Given the description of an element on the screen output the (x, y) to click on. 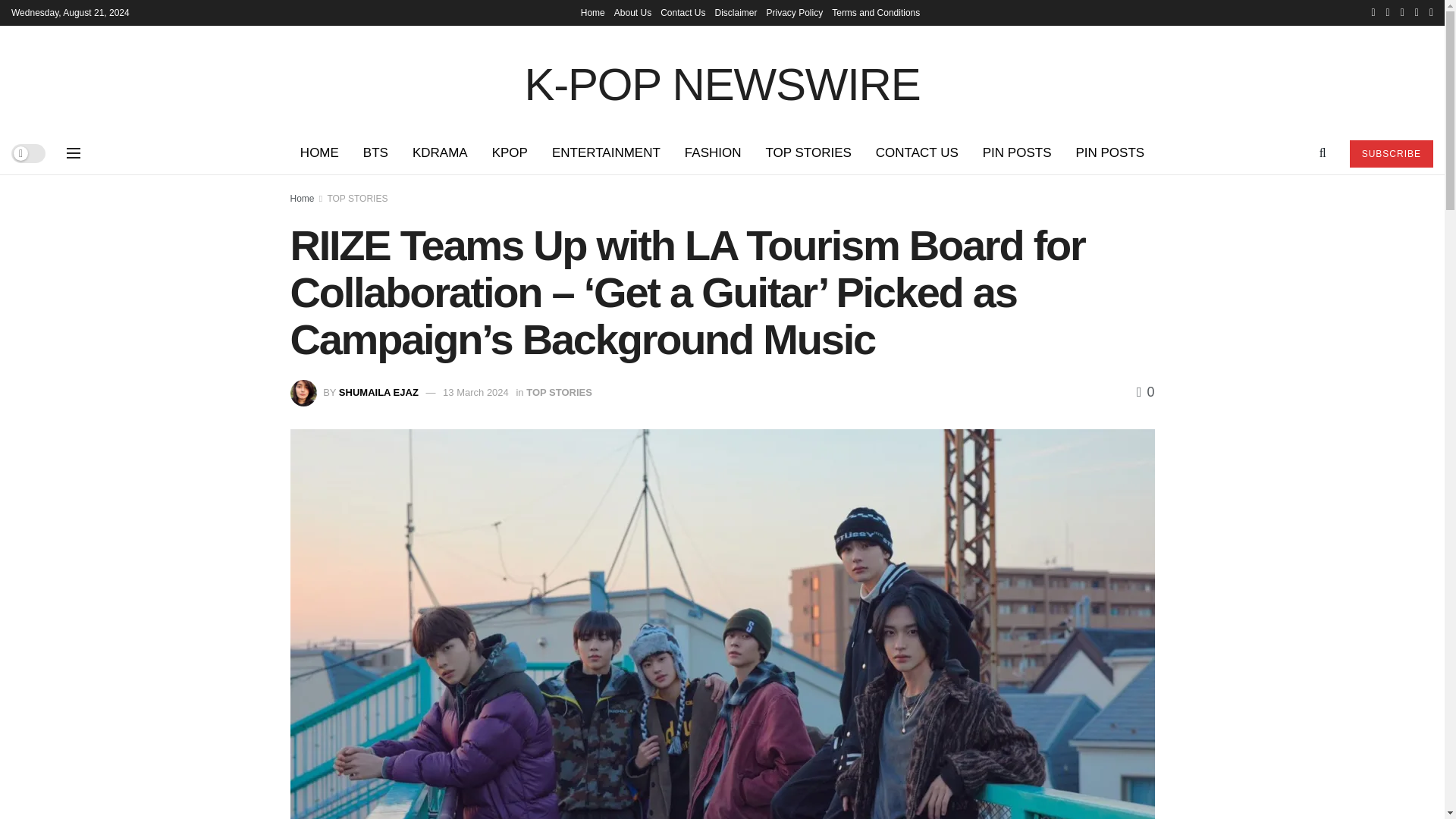
Privacy Policy (795, 12)
K-POP NEWSWIRE (722, 78)
Contact Us (682, 12)
ENTERTAINMENT (606, 152)
Disclaimer (735, 12)
FASHION (713, 152)
PIN POSTS (1109, 152)
Home (592, 12)
About Us (632, 12)
Terms and Conditions (875, 12)
